Given the description of an element on the screen output the (x, y) to click on. 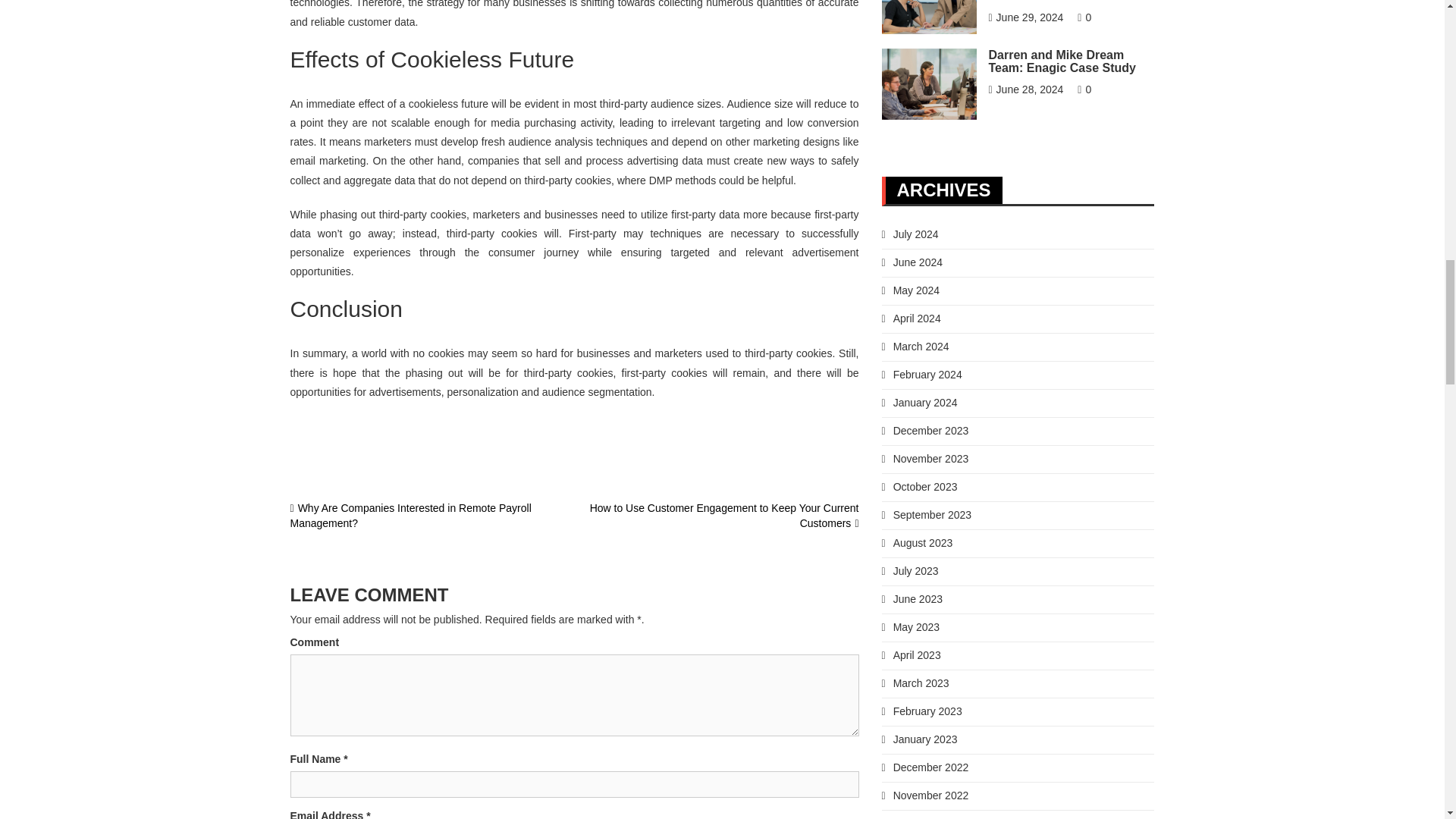
Why Are Companies Interested in Remote Payroll Management? (410, 515)
